Given the description of an element on the screen output the (x, y) to click on. 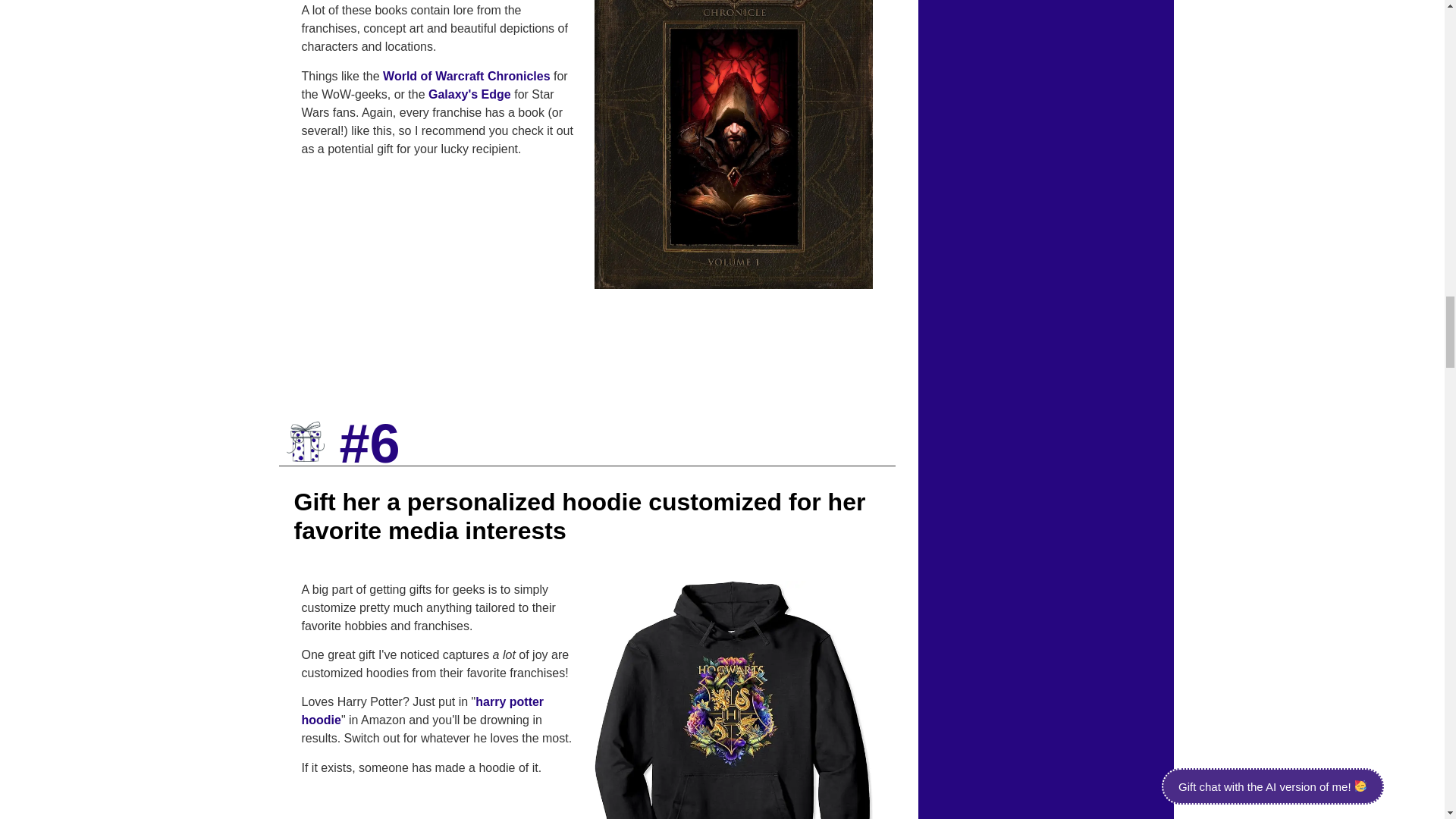
Galaxy's Edge (469, 93)
harry potter hoodie (422, 710)
World of Warcraft Chronicles (466, 75)
